Given the description of an element on the screen output the (x, y) to click on. 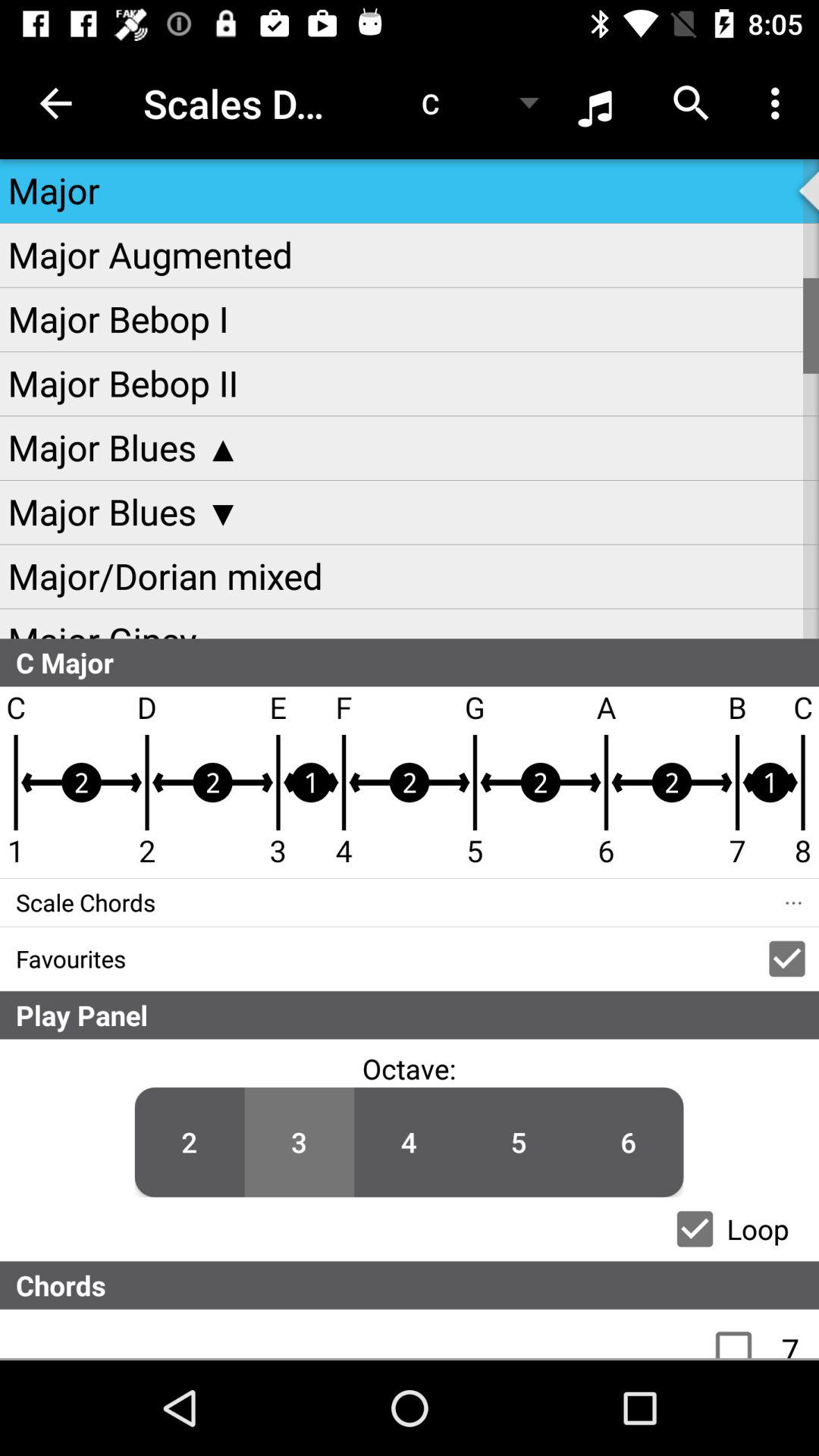
empty box (741, 1333)
